Given the description of an element on the screen output the (x, y) to click on. 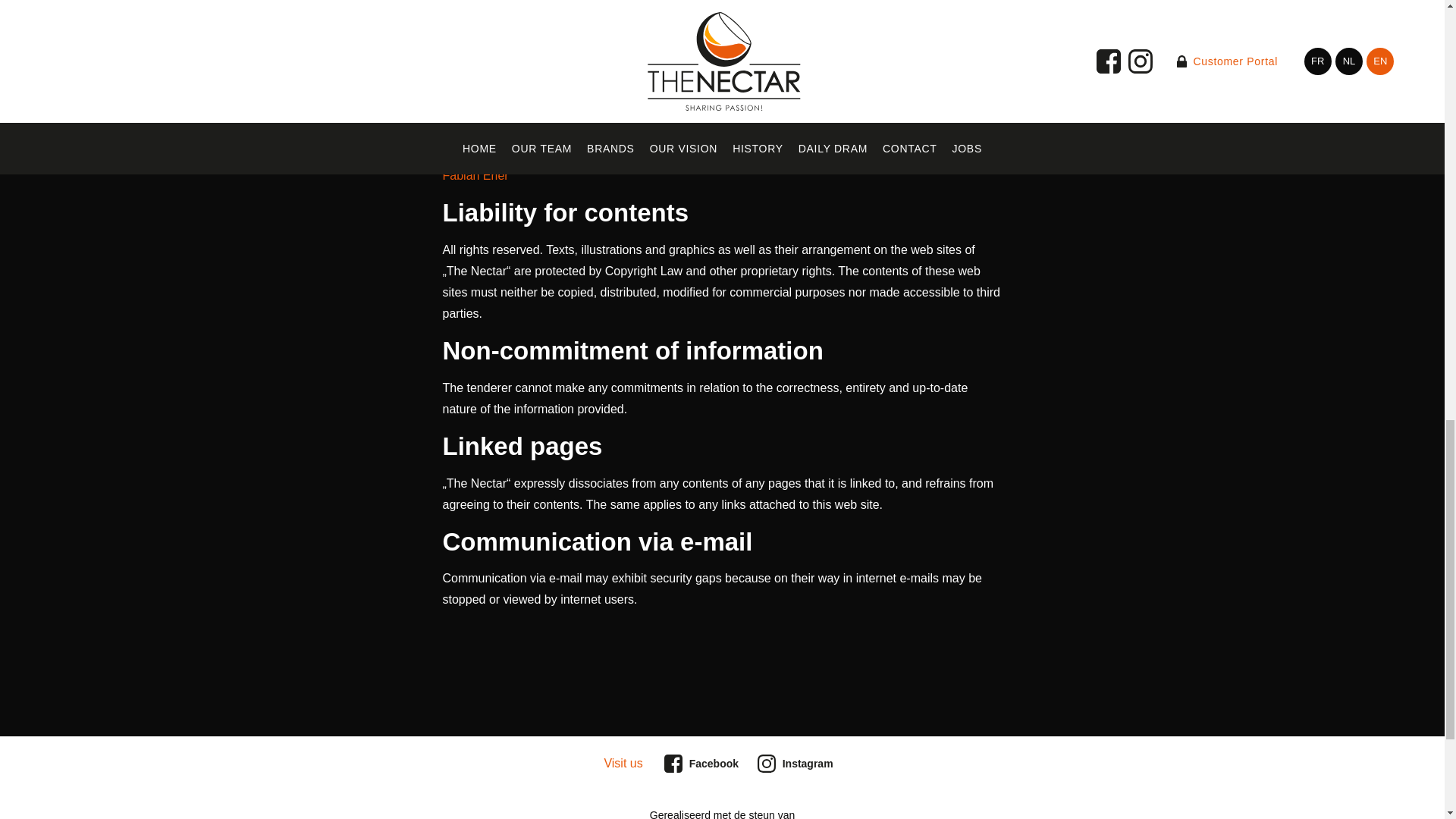
www.pavonet.be (486, 101)
Fabian Erler (475, 174)
Facebook (703, 763)
Instagram (797, 763)
